Given the description of an element on the screen output the (x, y) to click on. 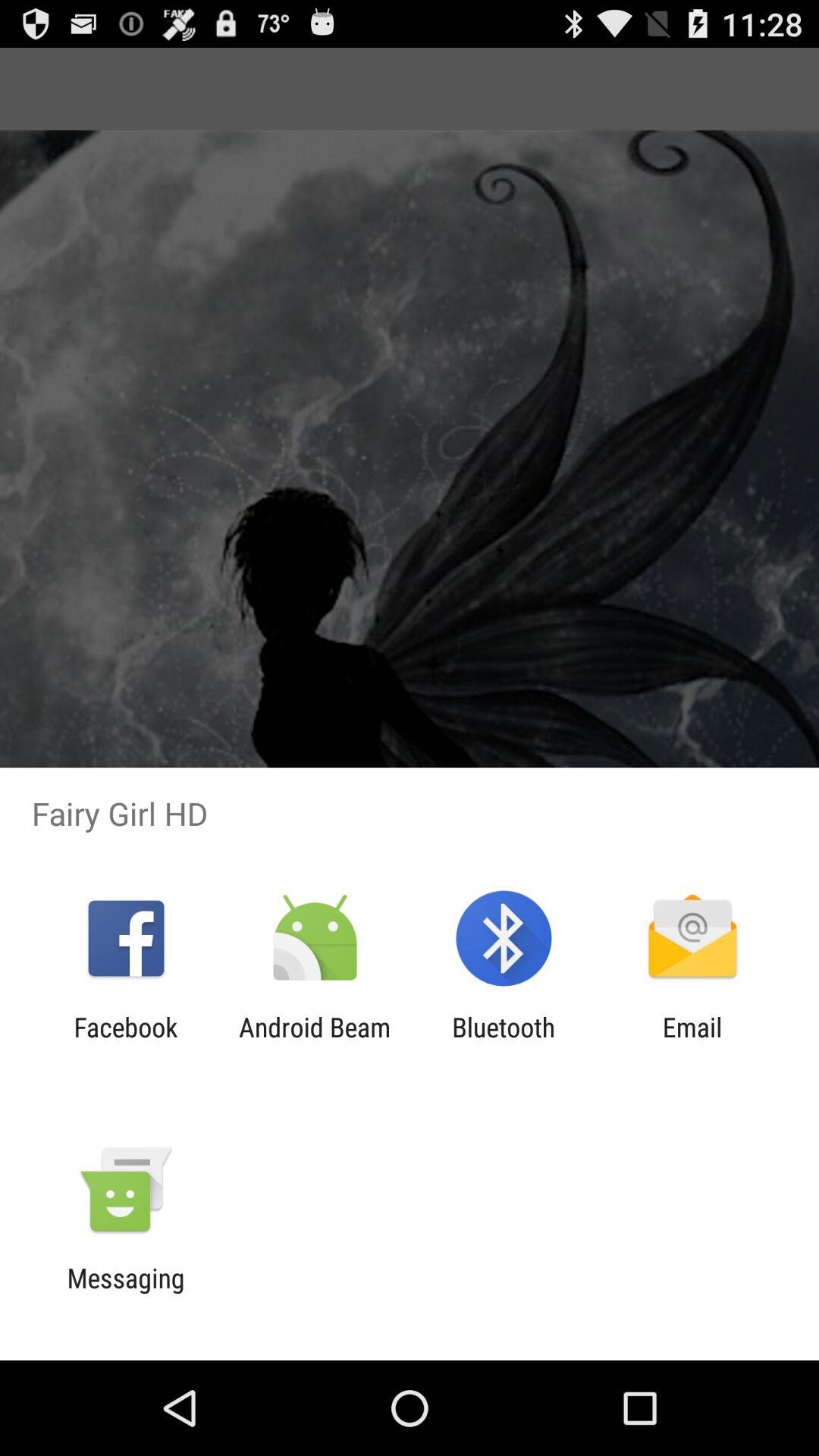
jump to email (692, 1042)
